Given the description of an element on the screen output the (x, y) to click on. 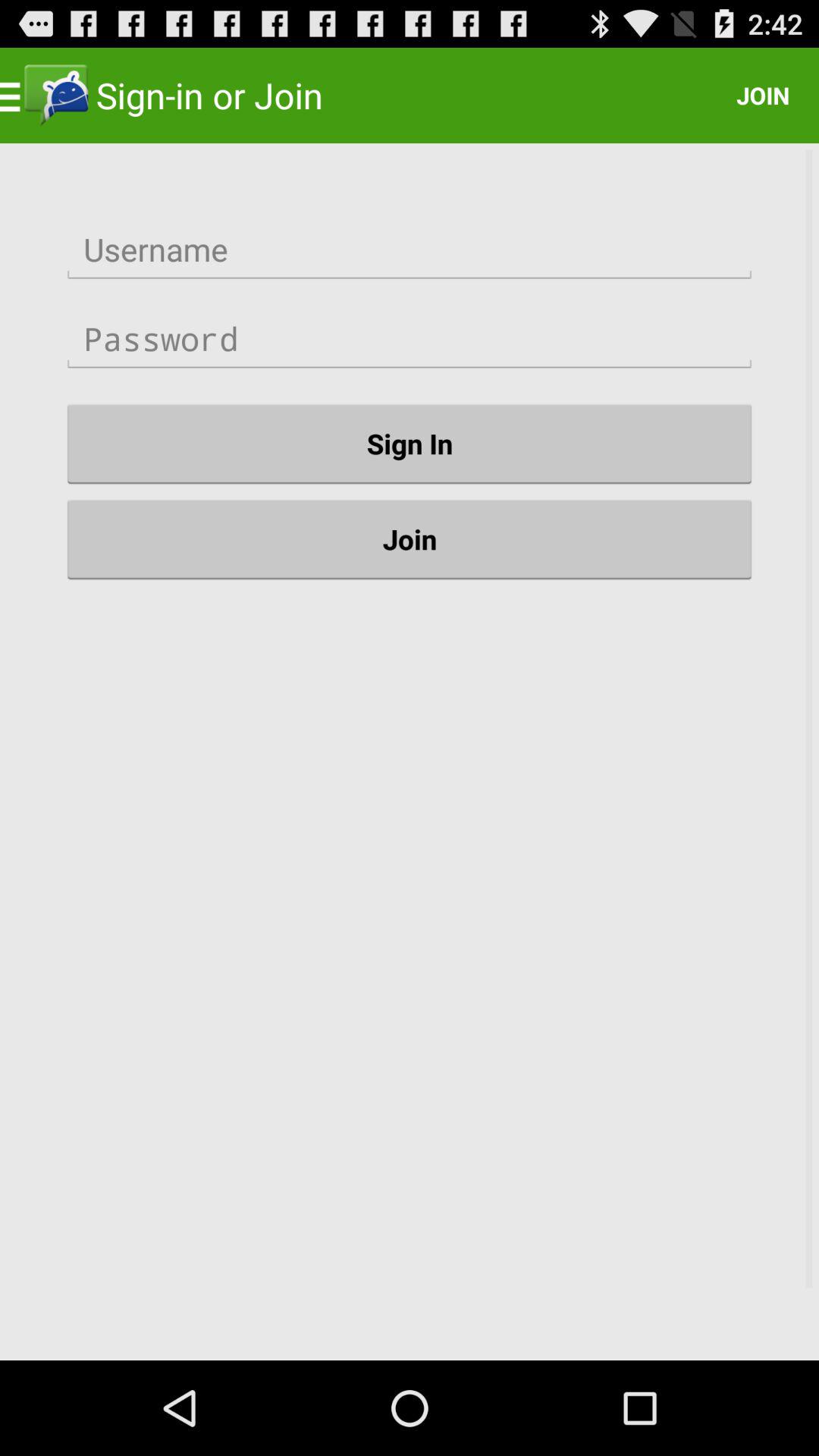
login info (409, 249)
